Given the description of an element on the screen output the (x, y) to click on. 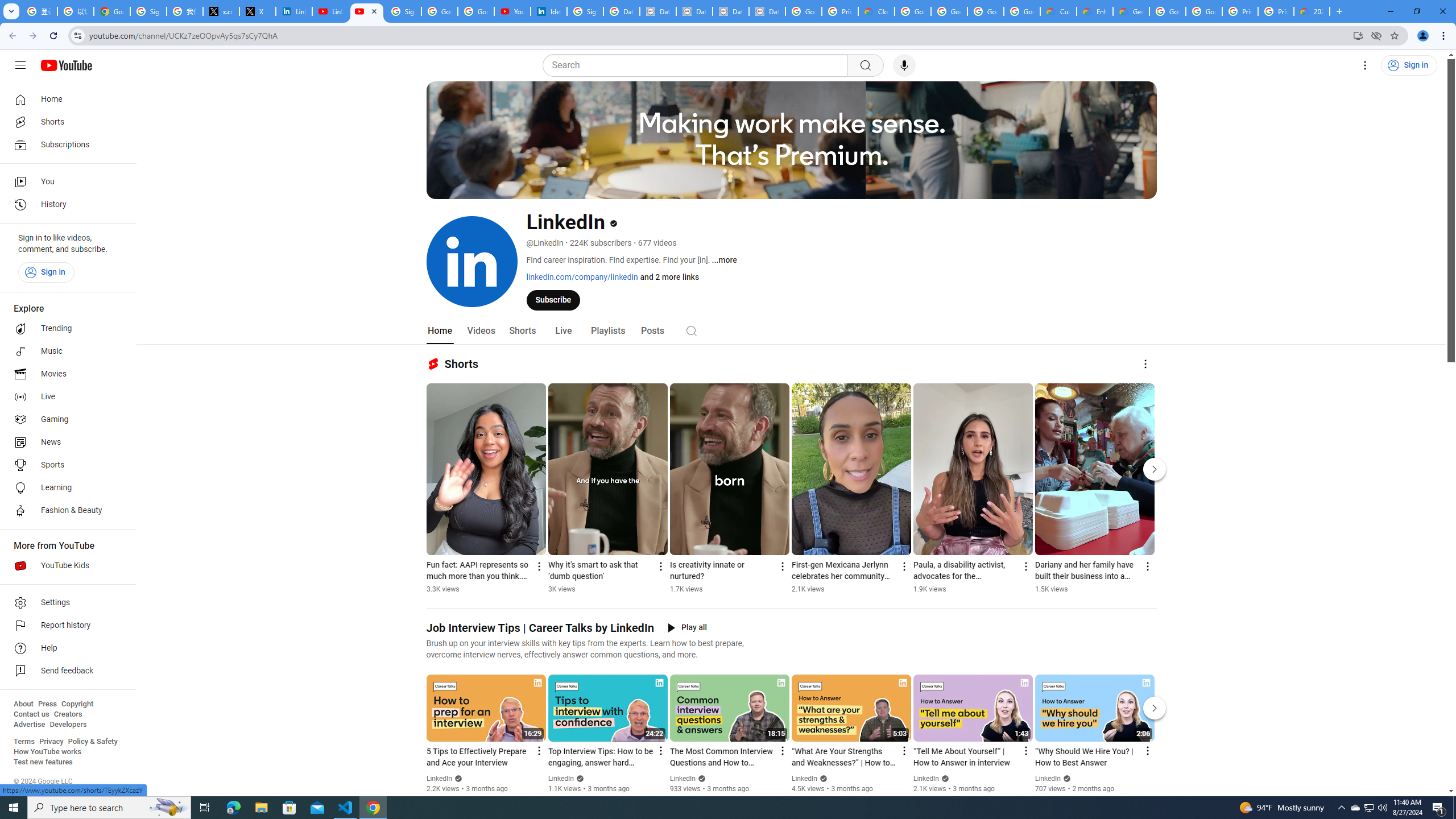
Privacy (51, 741)
LinkedIn Privacy Policy (293, 11)
Send feedback (64, 671)
Next (1154, 707)
Home (440, 330)
Videos (481, 330)
Trending (64, 328)
Cloud Data Processing Addendum | Google Cloud (876, 11)
Contact us (31, 714)
